Given the description of an element on the screen output the (x, y) to click on. 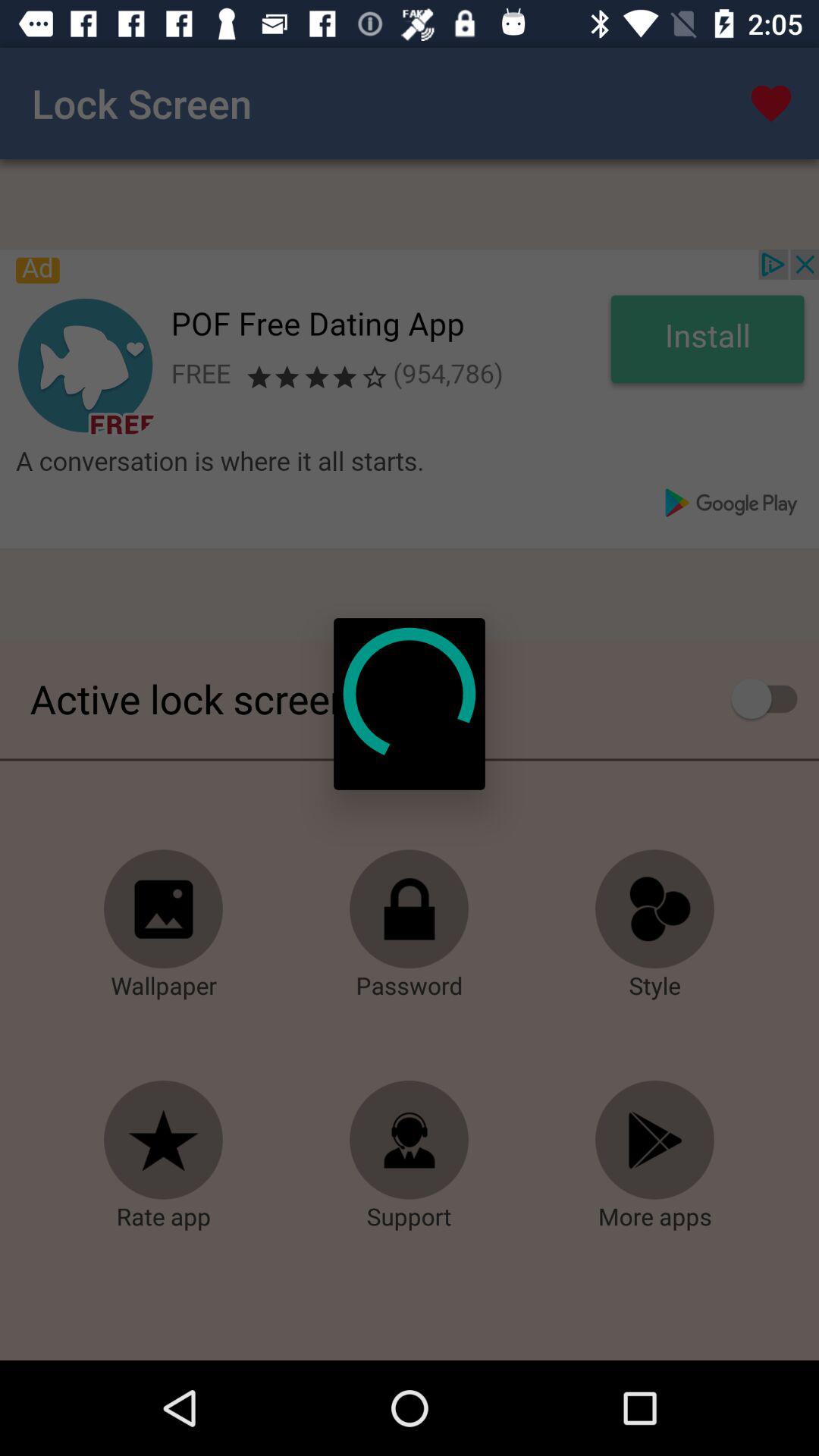
explore more apps (654, 1140)
